Given the description of an element on the screen output the (x, y) to click on. 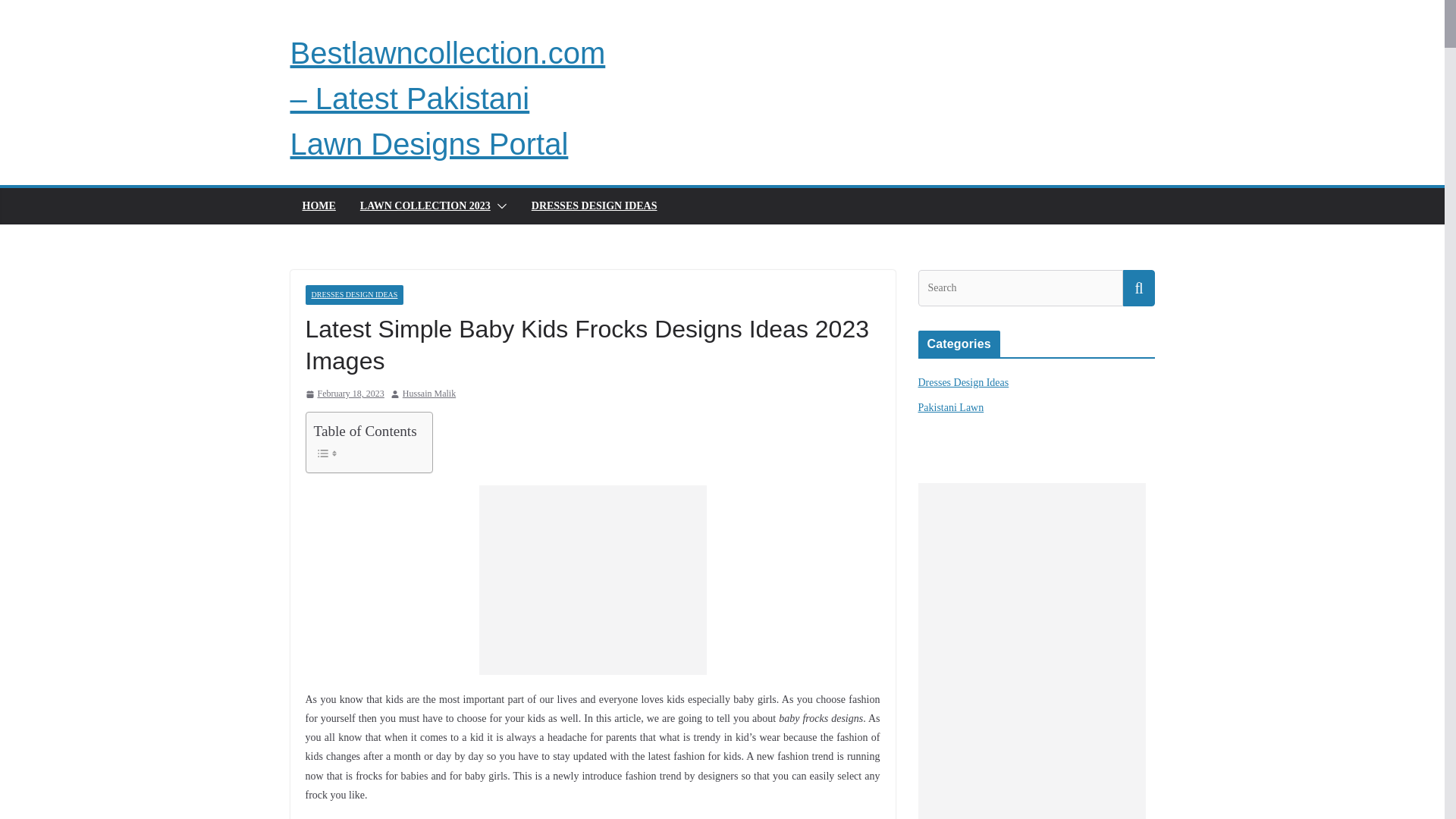
February 18, 2023 (344, 393)
DRESSES DESIGN IDEAS (594, 206)
Hussain Malik (429, 393)
7:45 am (344, 393)
Hussain Malik (429, 393)
HOME (317, 206)
DRESSES DESIGN IDEAS (353, 294)
LAWN COLLECTION 2023 (424, 206)
